Given the description of an element on the screen output the (x, y) to click on. 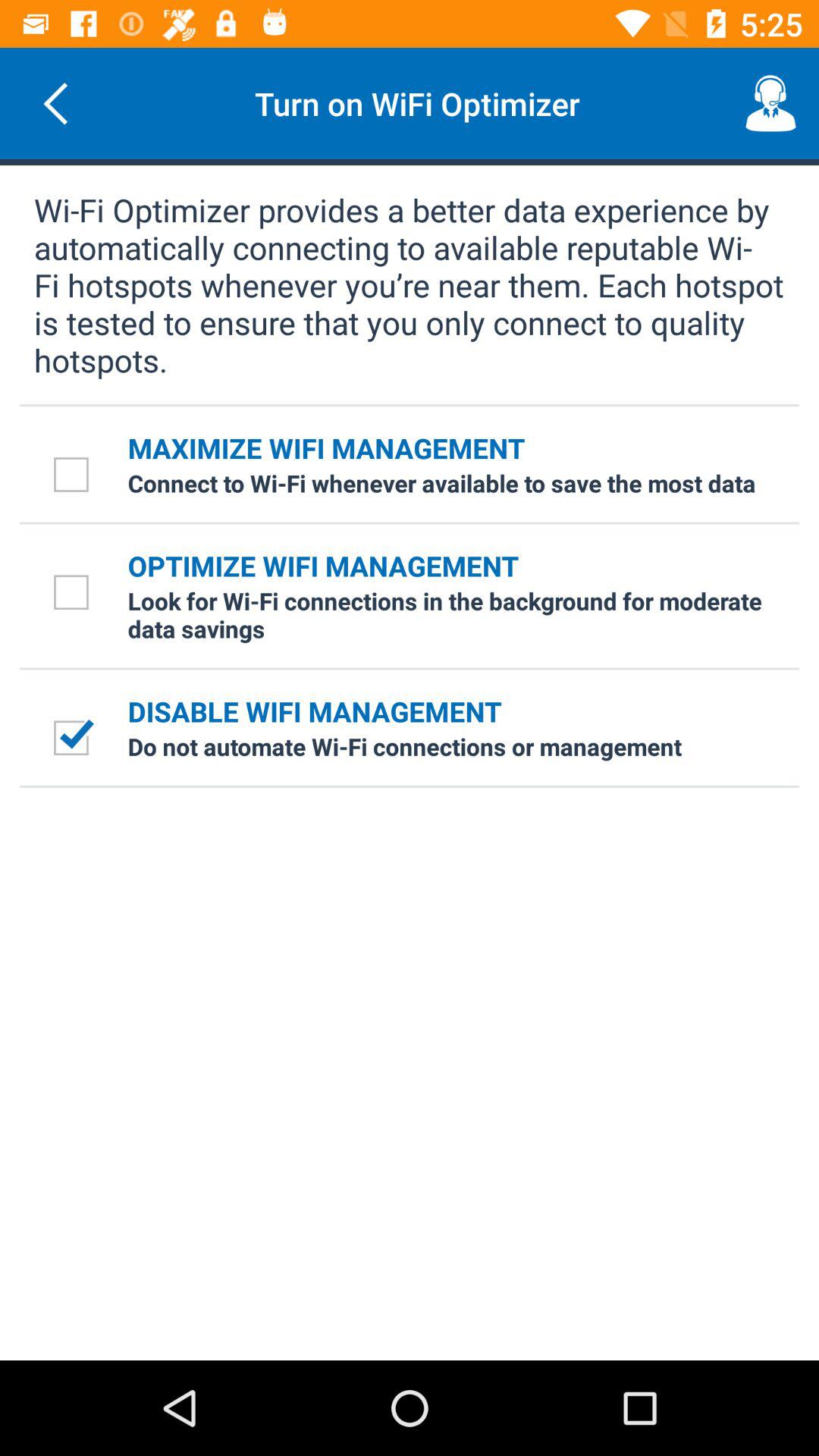
press the item to the left of the turn on wifi item (55, 103)
